Given the description of an element on the screen output the (x, y) to click on. 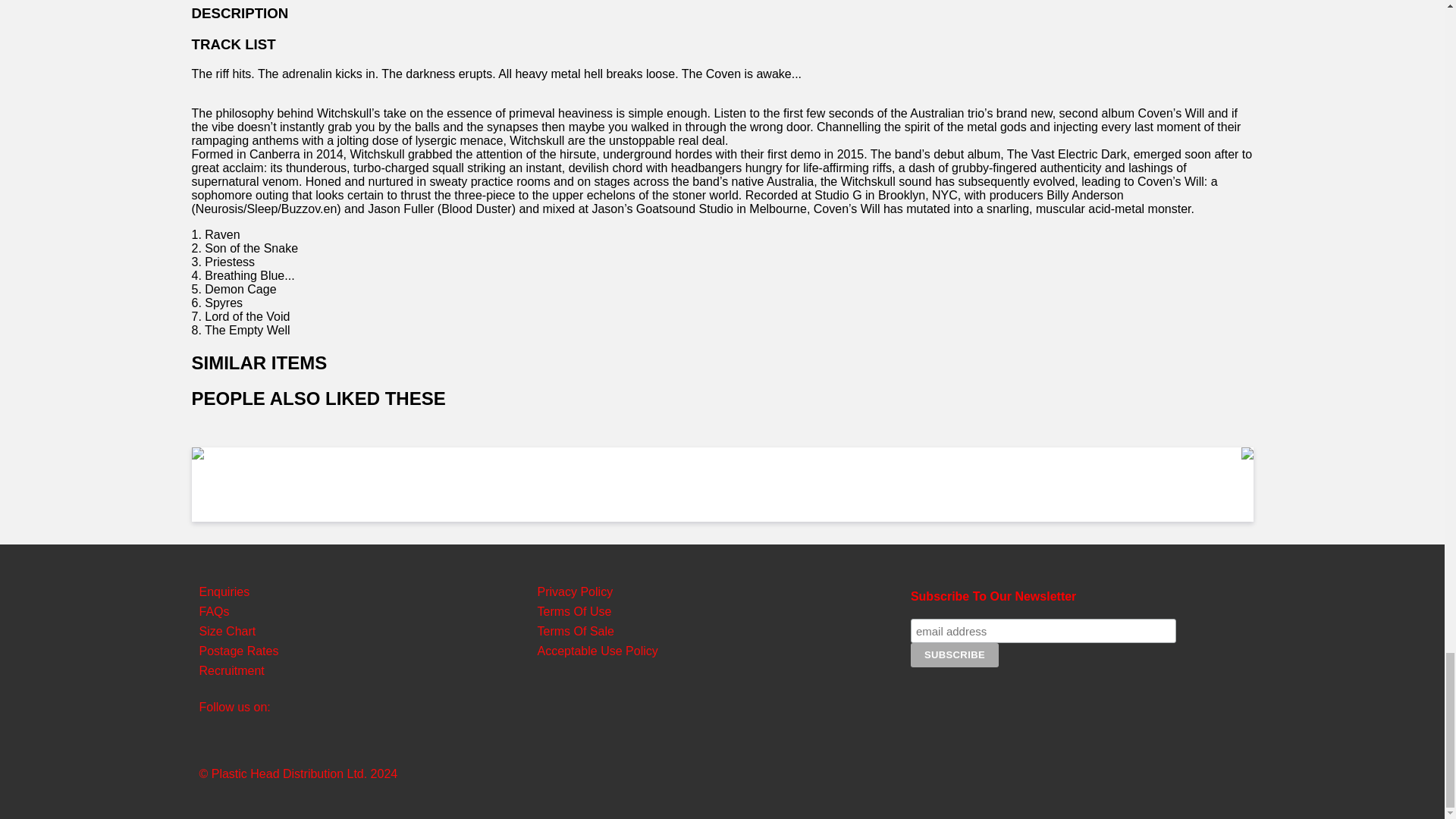
Subscribe (954, 654)
